Given the description of an element on the screen output the (x, y) to click on. 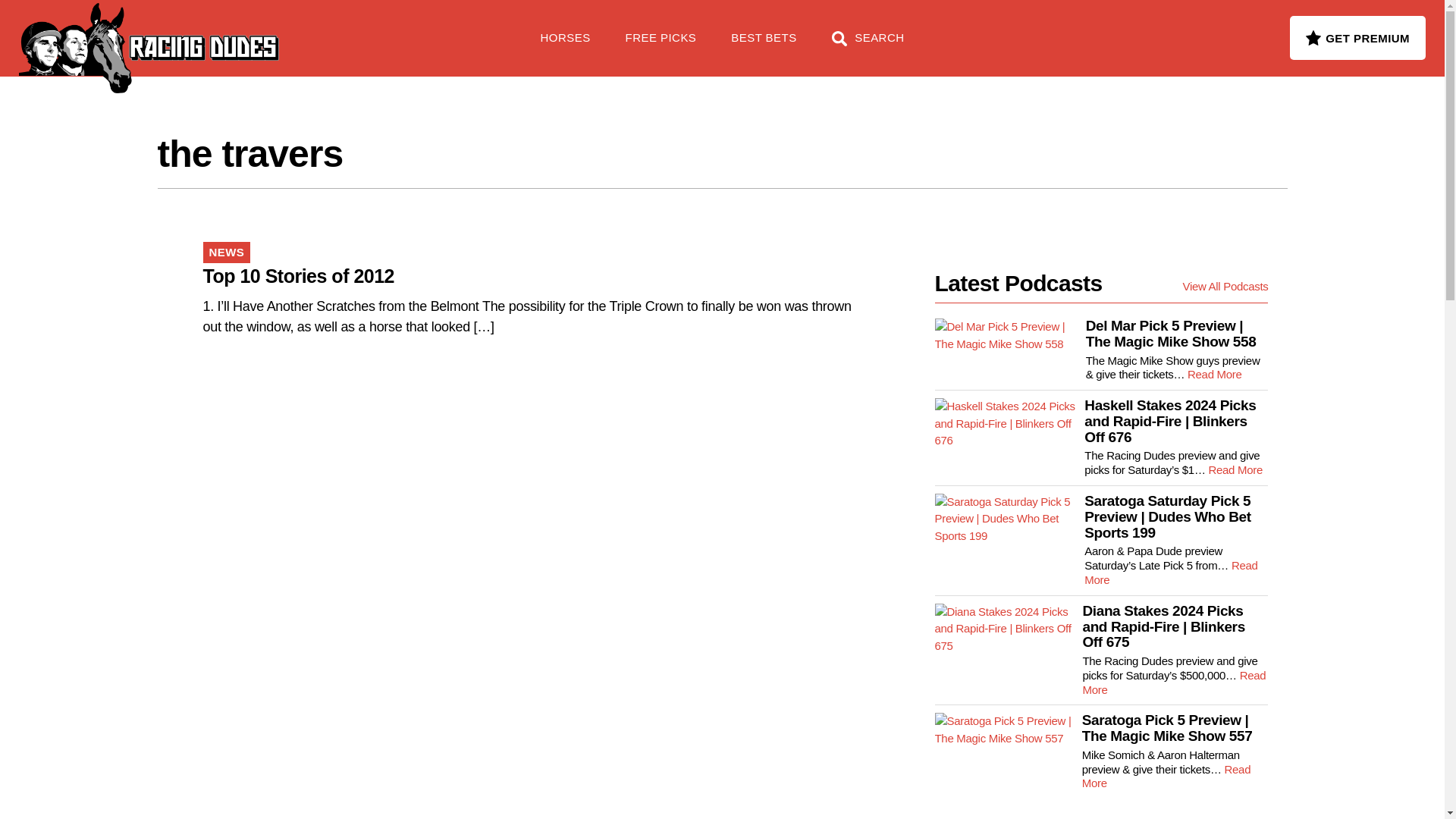
GET PREMIUM (1357, 37)
FREE PICKS (661, 45)
PODCASTS (354, 29)
 SEARCH (867, 45)
BEST BETS (763, 45)
FREE PICKS (245, 29)
HORSES (565, 45)
